Given the description of an element on the screen output the (x, y) to click on. 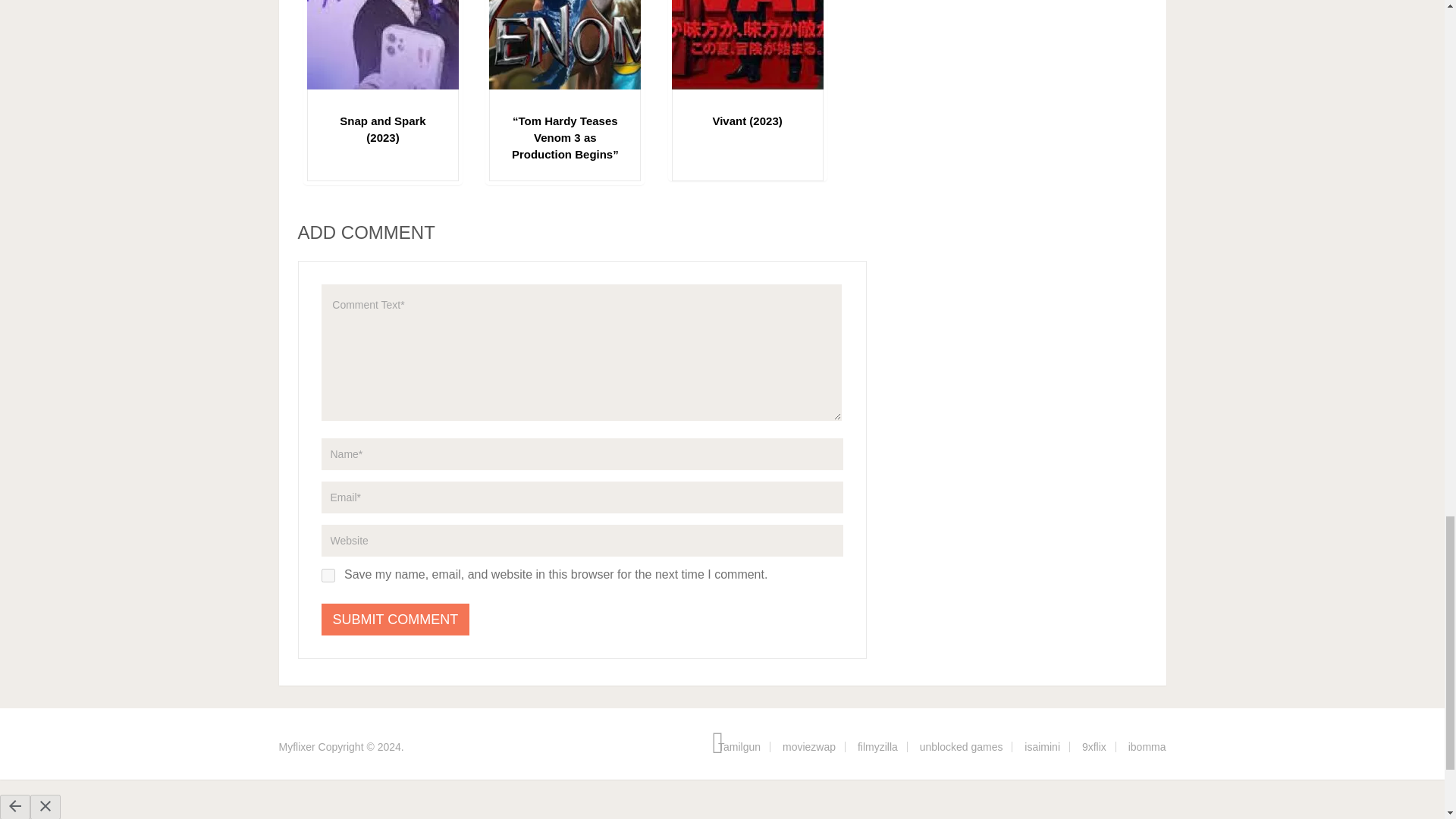
Submit Comment (395, 619)
yes (327, 575)
Submit Comment (395, 619)
